Given the description of an element on the screen output the (x, y) to click on. 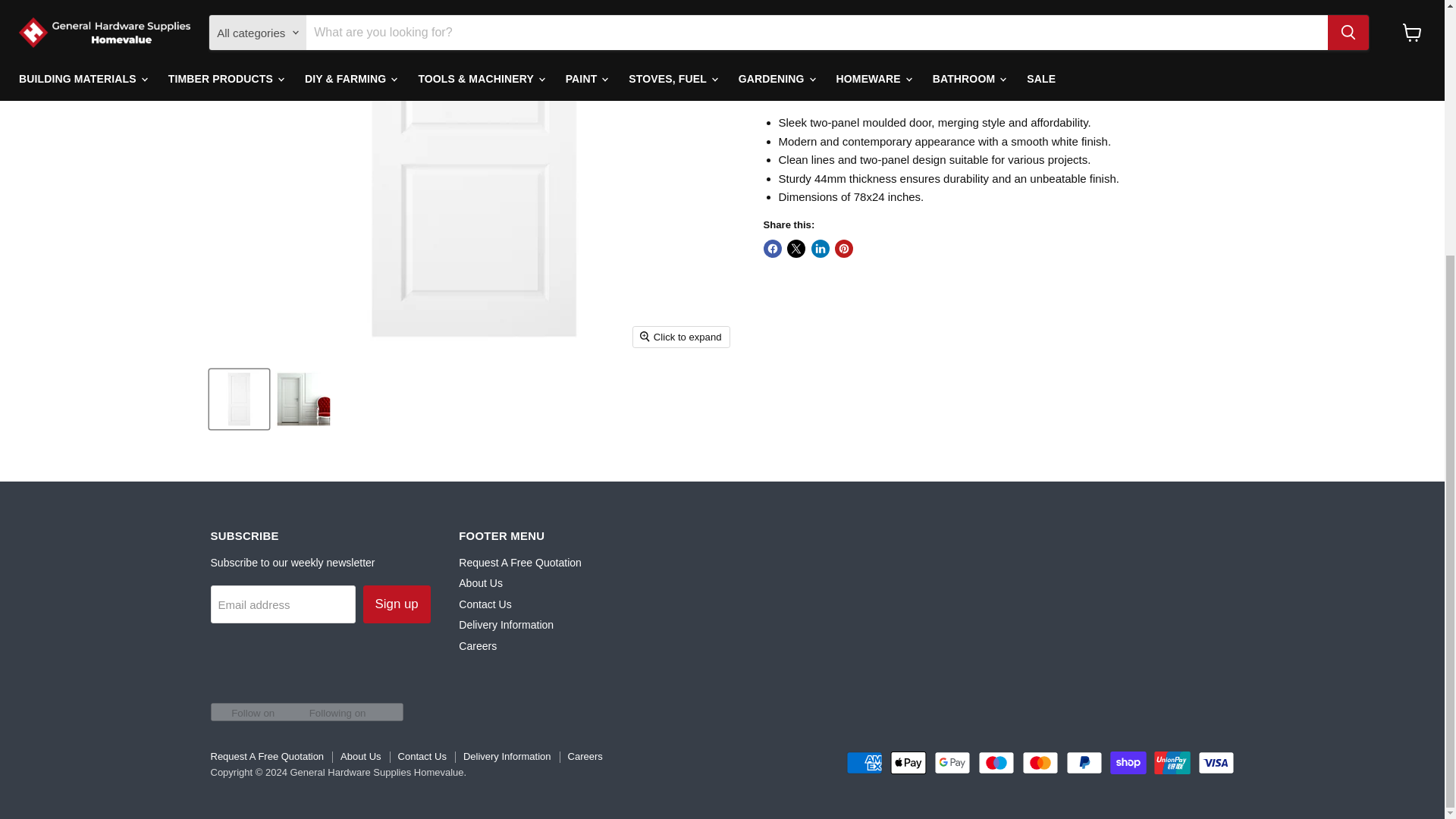
American Express (863, 762)
